Given the description of an element on the screen output the (x, y) to click on. 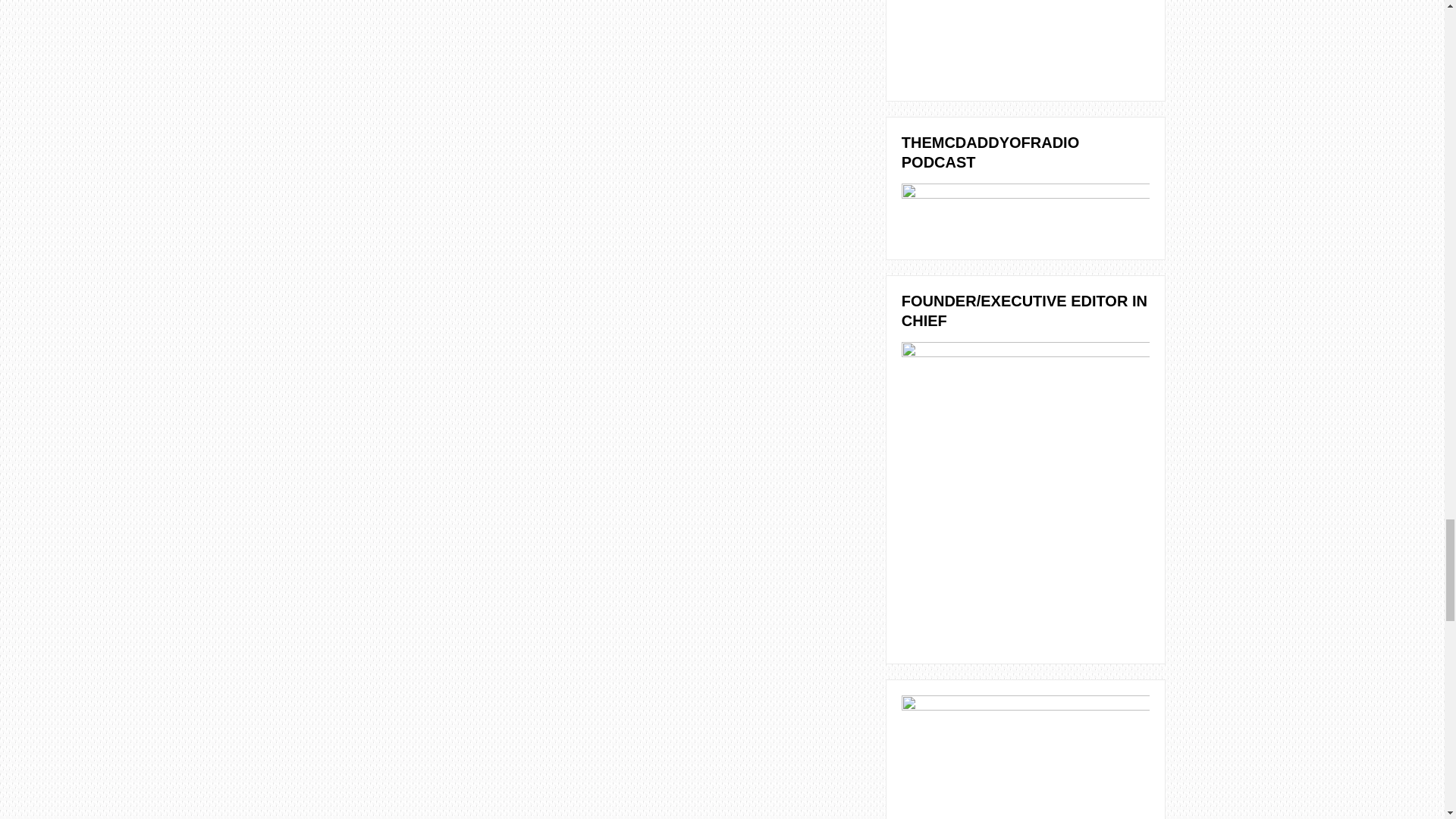
THEMCDADDYOFRADIO PODCAST (1025, 213)
